Given the description of an element on the screen output the (x, y) to click on. 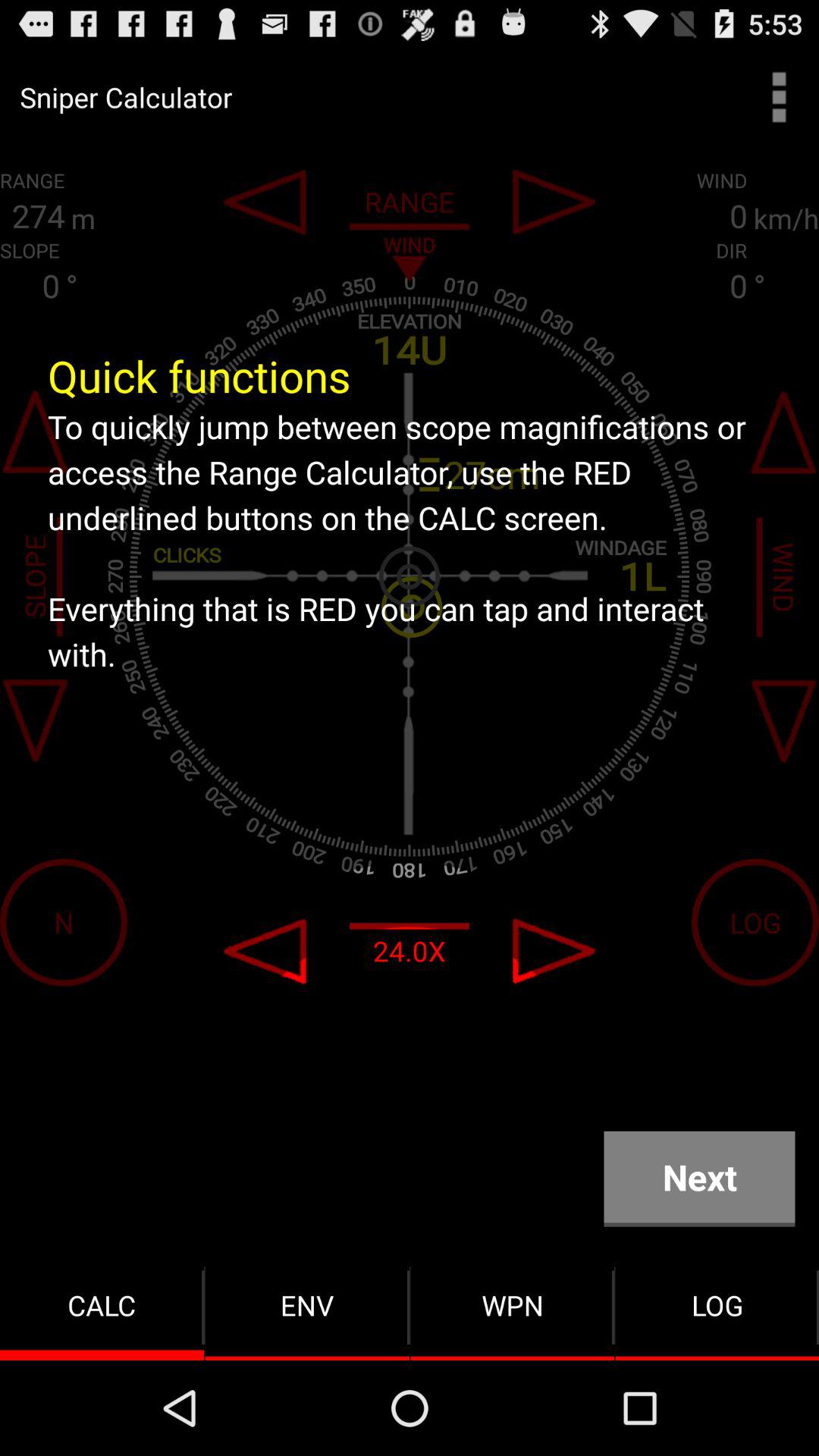
flip until the next icon (699, 1178)
